Given the description of an element on the screen output the (x, y) to click on. 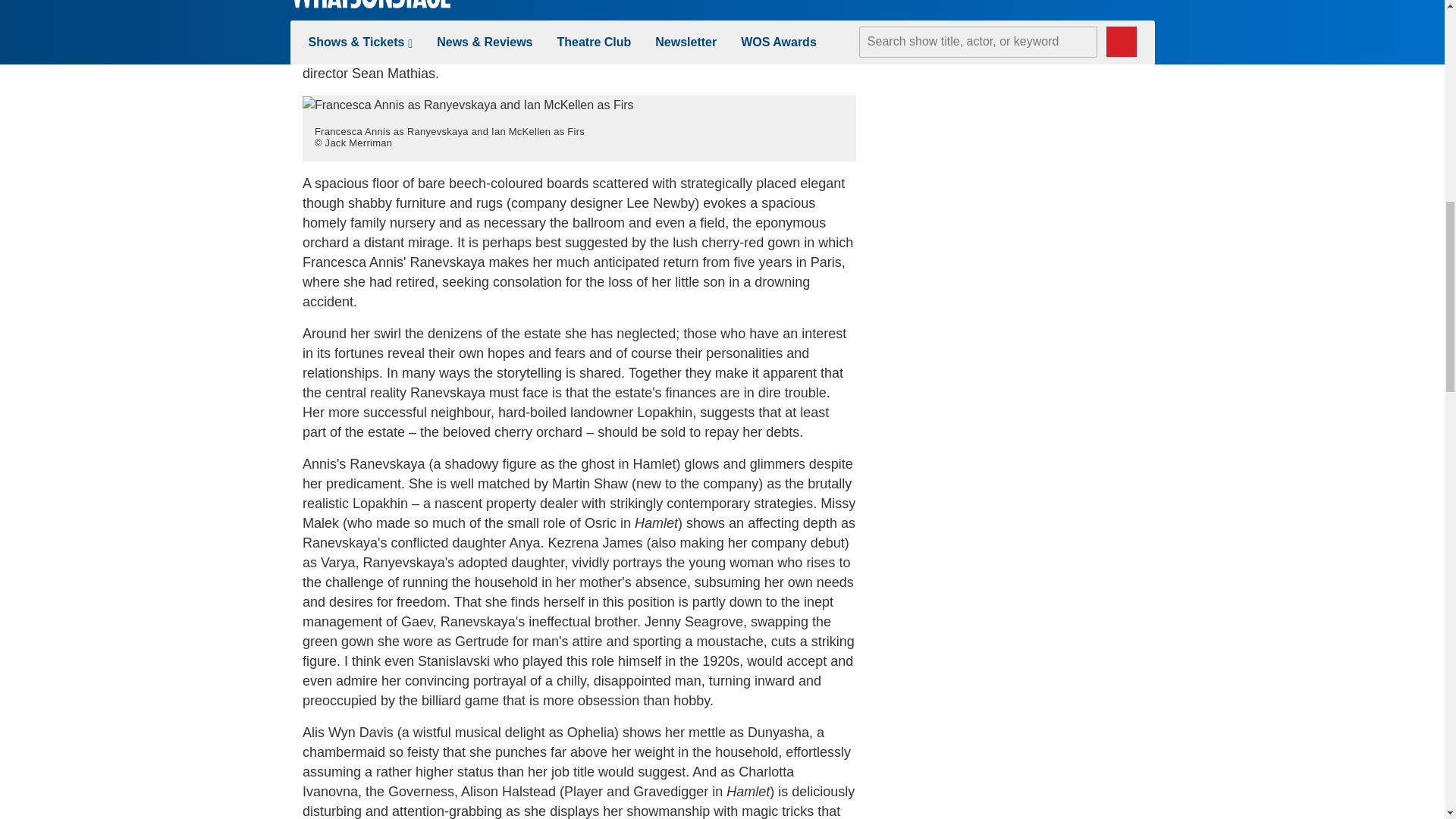
Francesca Annis as Ranyevskaya and Ian McKellen as Firs (467, 105)
